Given the description of an element on the screen output the (x, y) to click on. 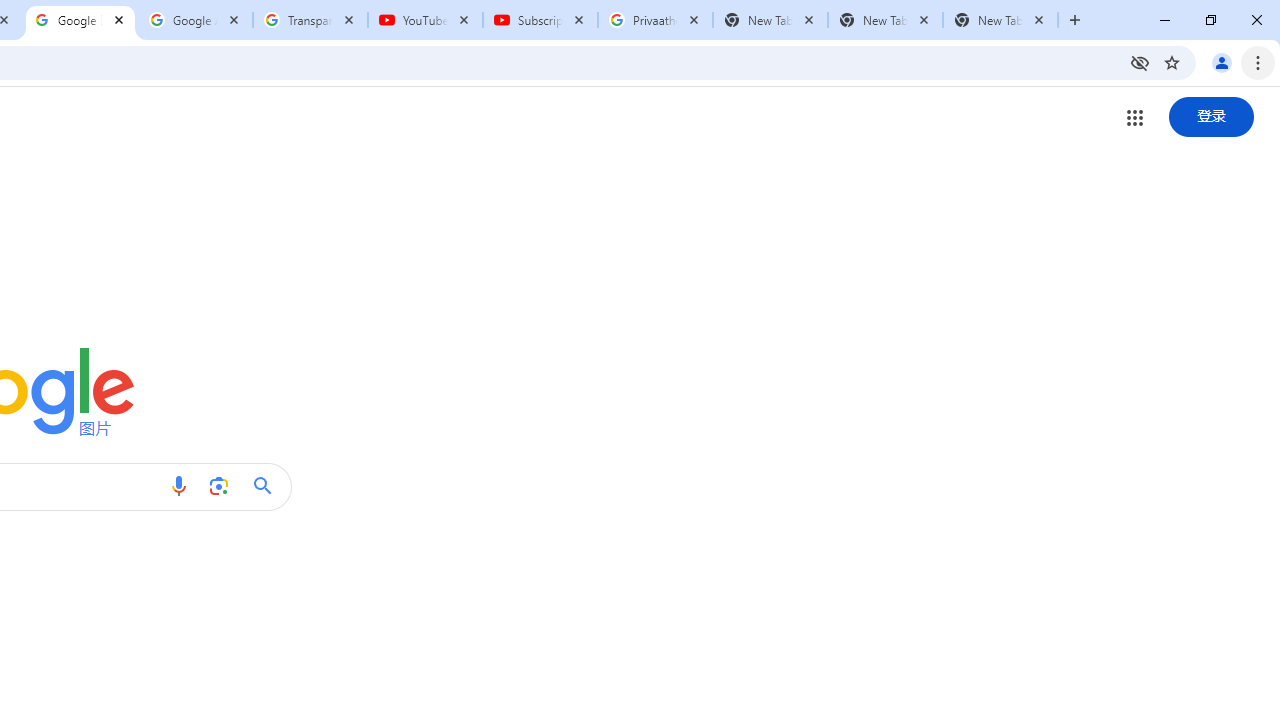
New Tab (1000, 20)
Subscriptions - YouTube (539, 20)
YouTube (424, 20)
